Given the description of an element on the screen output the (x, y) to click on. 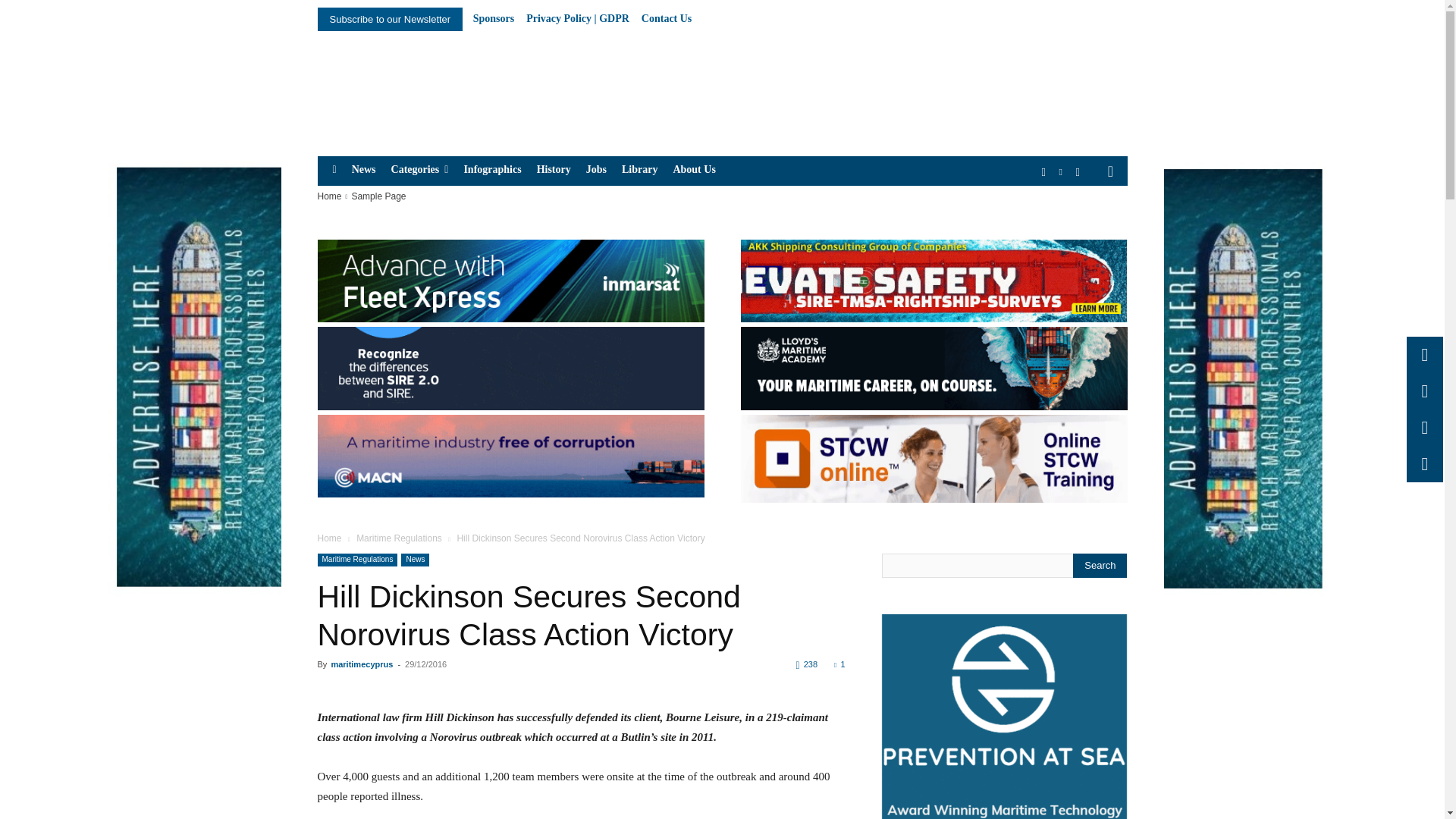
Subscribe to our Newsletter (390, 19)
Facebook (1043, 171)
Subscribe to our Newsletter (390, 19)
Search (1099, 565)
Linkedin (1061, 171)
Contact Us (667, 18)
Twitter (1077, 171)
Sponsors (493, 18)
